Given the description of an element on the screen output the (x, y) to click on. 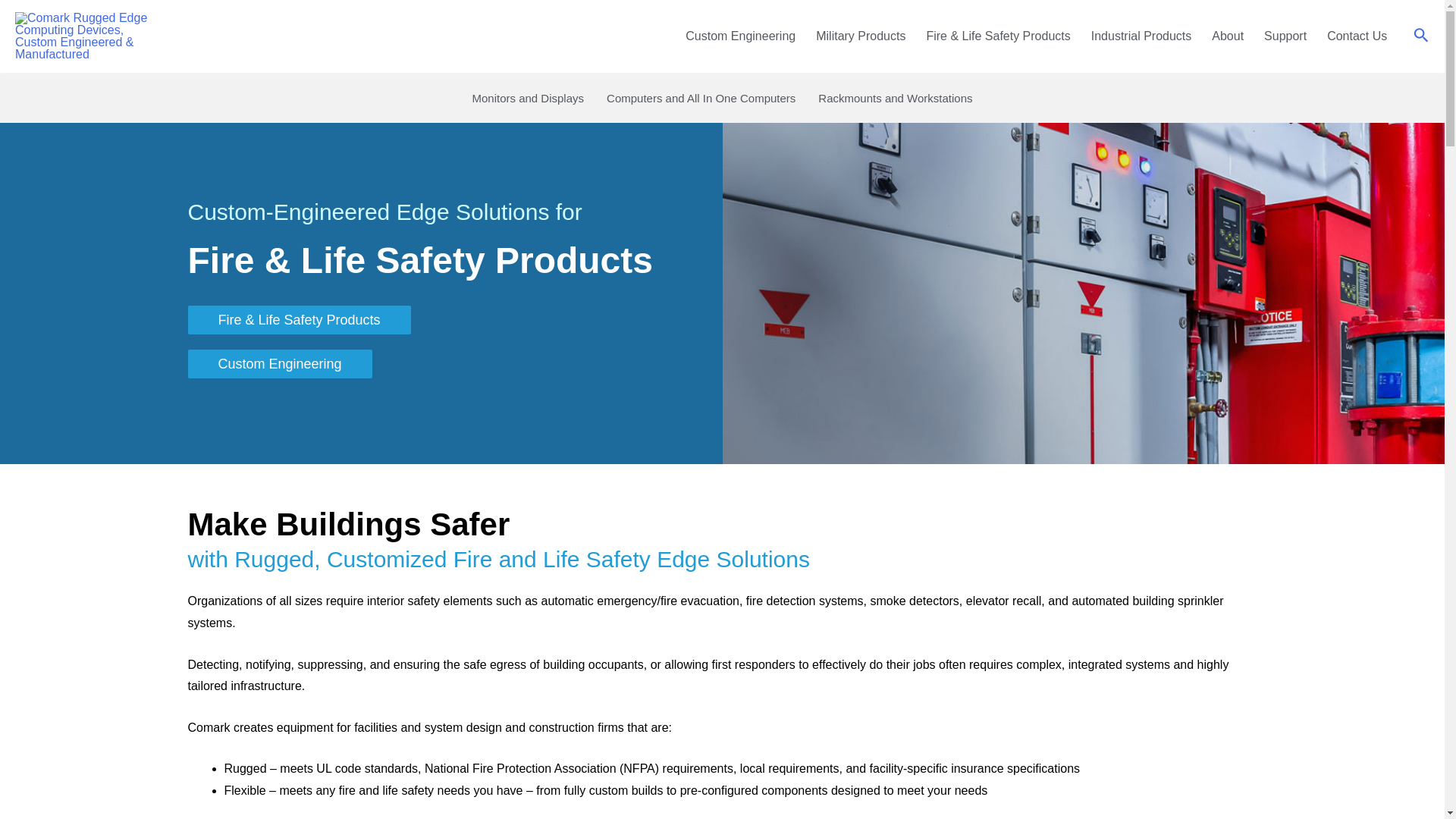
Industrial Products (1142, 36)
Contact Us (1357, 36)
Military Products (861, 36)
Monitors and Displays (527, 97)
Rackmounts and Workstations (895, 97)
Computers and All In One Computers (700, 97)
Custom Engineering (741, 36)
Support (1286, 36)
Custom Engineering (741, 36)
